Given the description of an element on the screen output the (x, y) to click on. 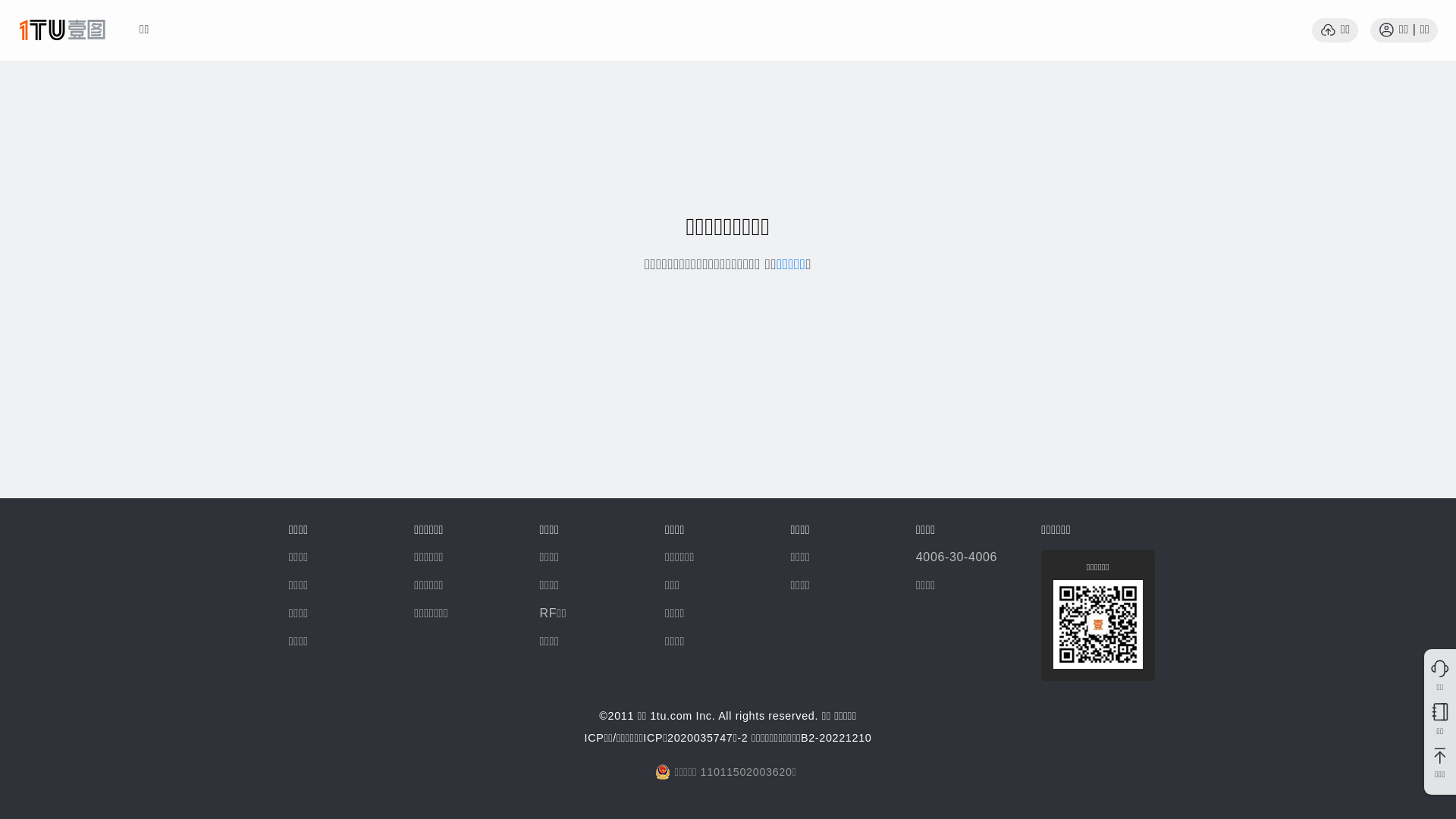
4006-30-4006 Element type: text (956, 556)
